Given the description of an element on the screen output the (x, y) to click on. 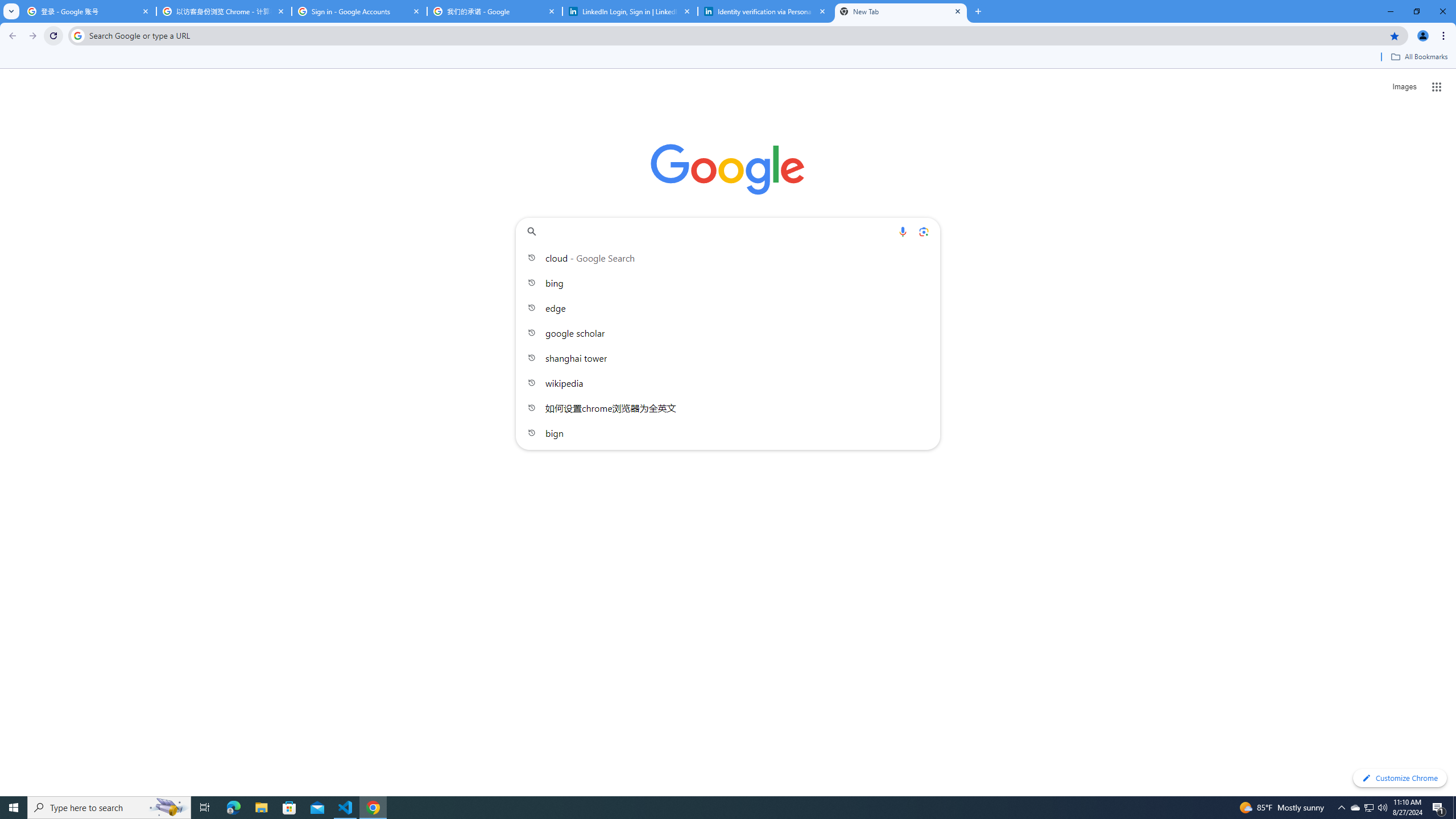
Search icon (77, 35)
Add shortcut (727, 287)
Search by image (922, 230)
Search for Images  (1403, 87)
Search Google or type a URL (727, 230)
